Given the description of an element on the screen output the (x, y) to click on. 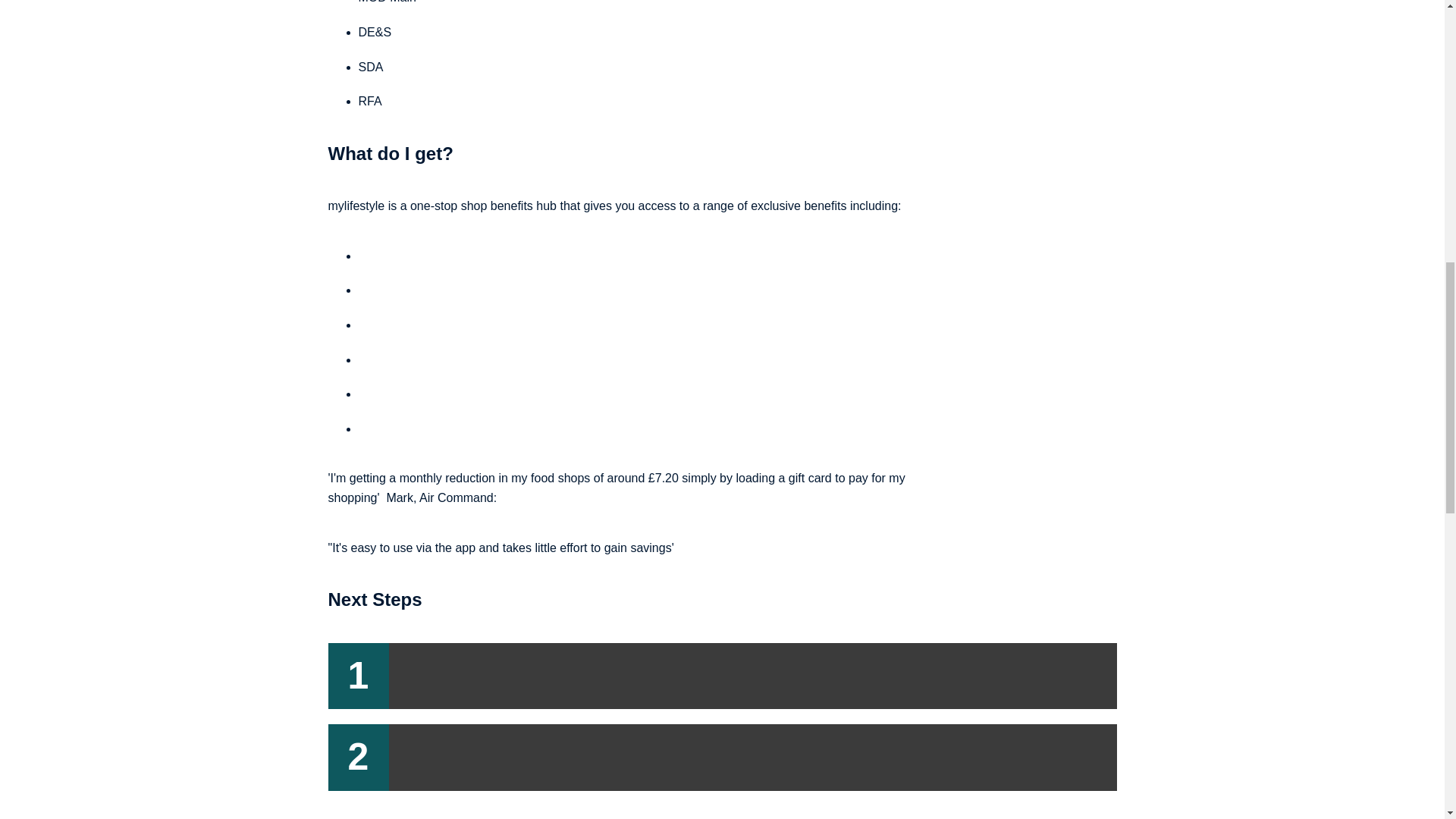
Discounted Gym Membership (438, 324)
AXA PPP Private Medical Insurance (454, 393)
Cycle to Work Scheme (419, 255)
My Discounts (394, 428)
Salary finance (395, 289)
Benenden Health Cash Plan (434, 359)
